Given the description of an element on the screen output the (x, y) to click on. 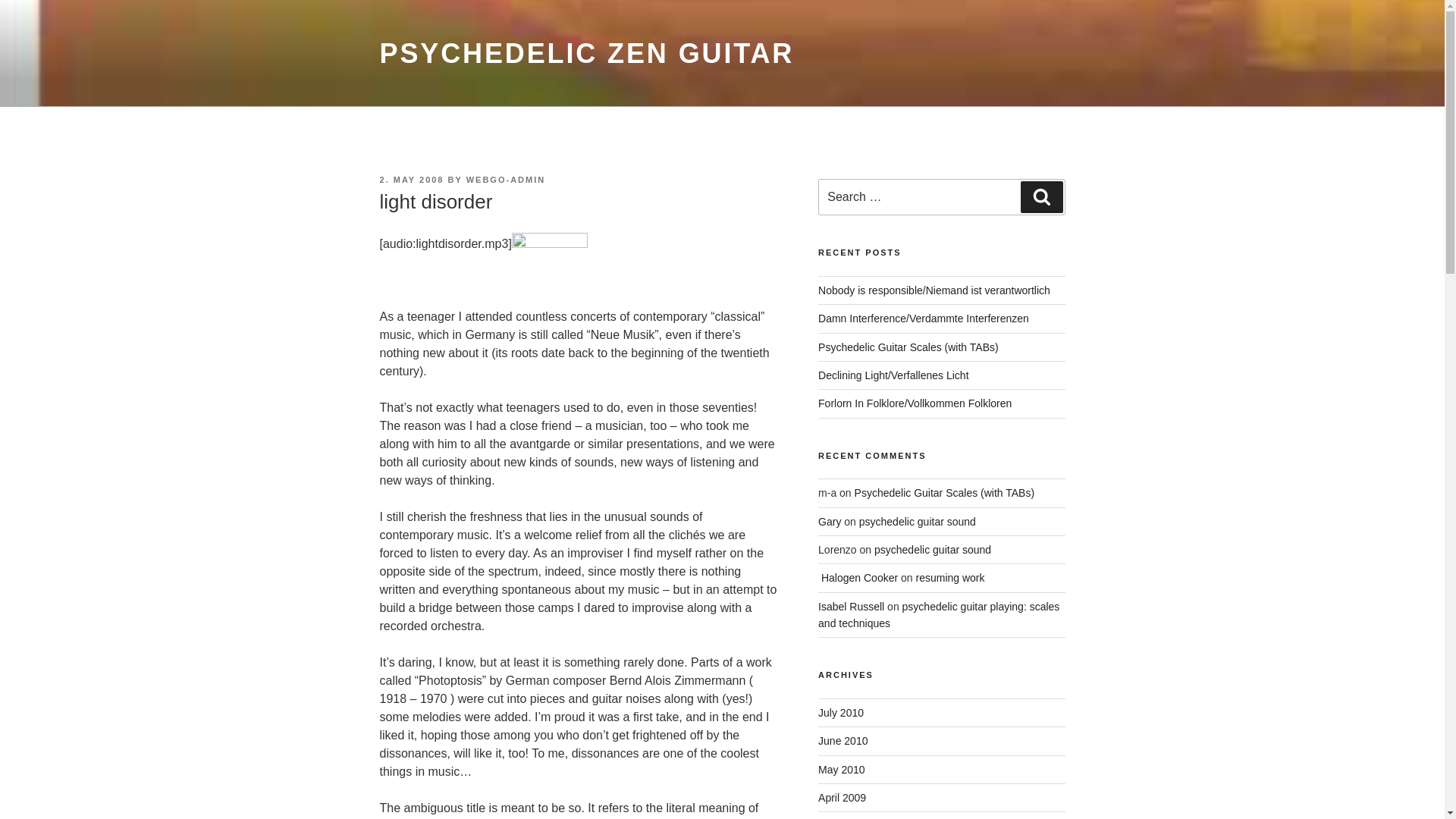
 Halogen Cooker (858, 577)
April 2009 (842, 797)
resuming work (949, 577)
psychedelic guitar playing: scales and techniques (938, 614)
June 2010 (842, 740)
psychedelic guitar sound (917, 521)
PSYCHEDELIC ZEN GUITAR (585, 52)
2. MAY 2008 (411, 179)
psychedelic guitar sound (933, 549)
